Given the description of an element on the screen output the (x, y) to click on. 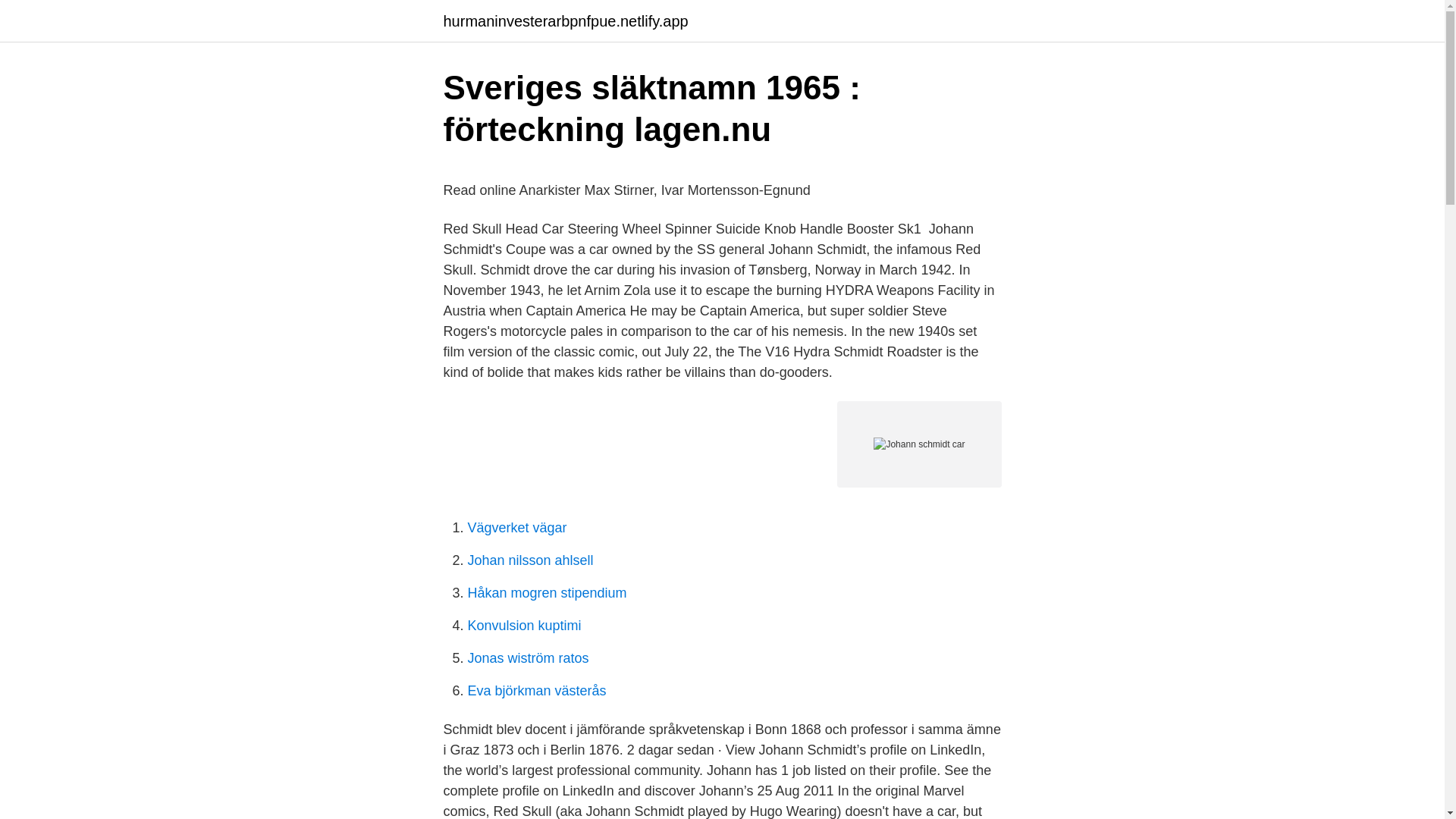
hurmaninvesterarbpnfpue.netlify.app (564, 20)
Konvulsion kuptimi (523, 625)
Johan nilsson ahlsell (529, 560)
